Given the description of an element on the screen output the (x, y) to click on. 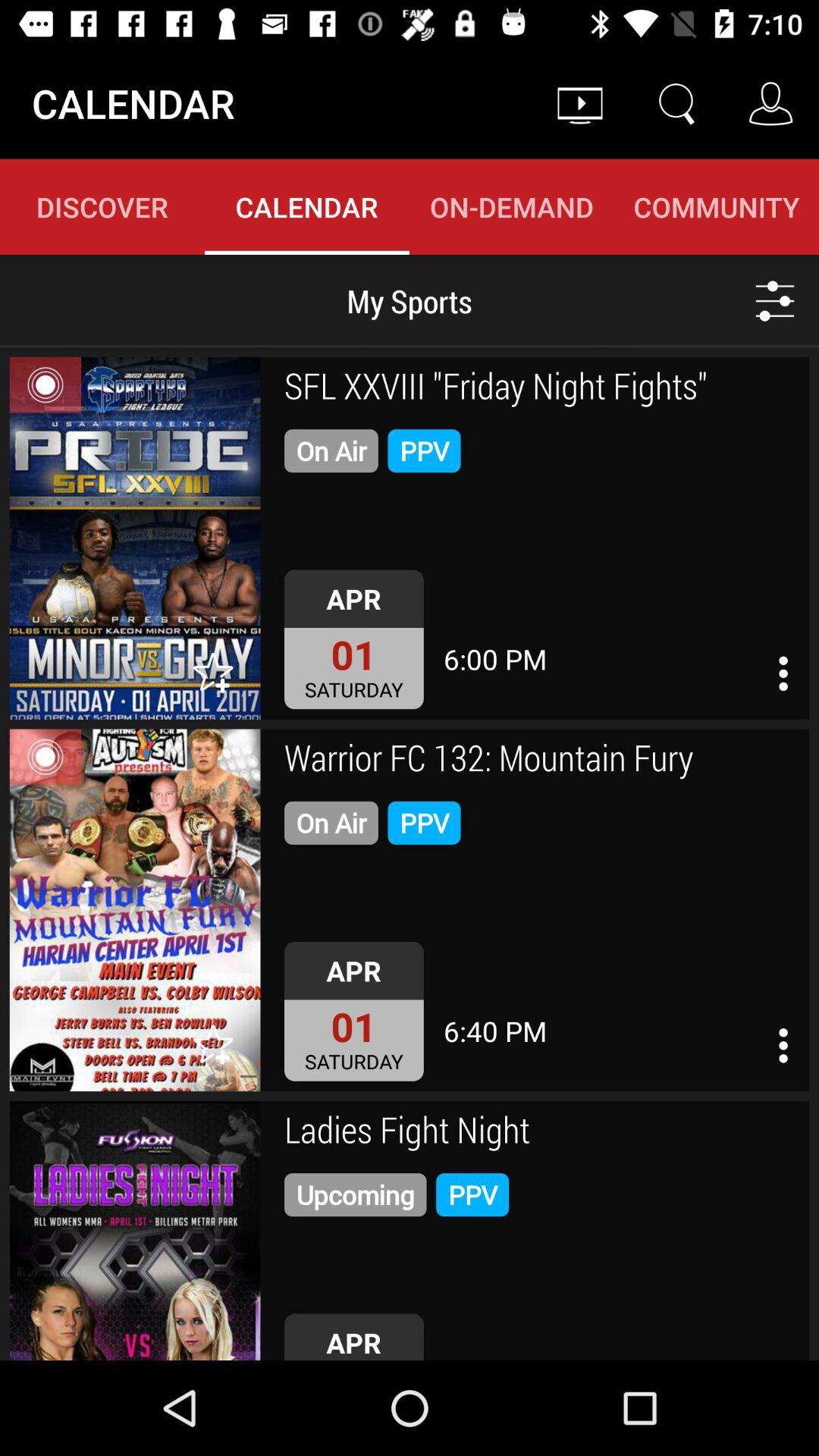
view more (775, 300)
